Given the description of an element on the screen output the (x, y) to click on. 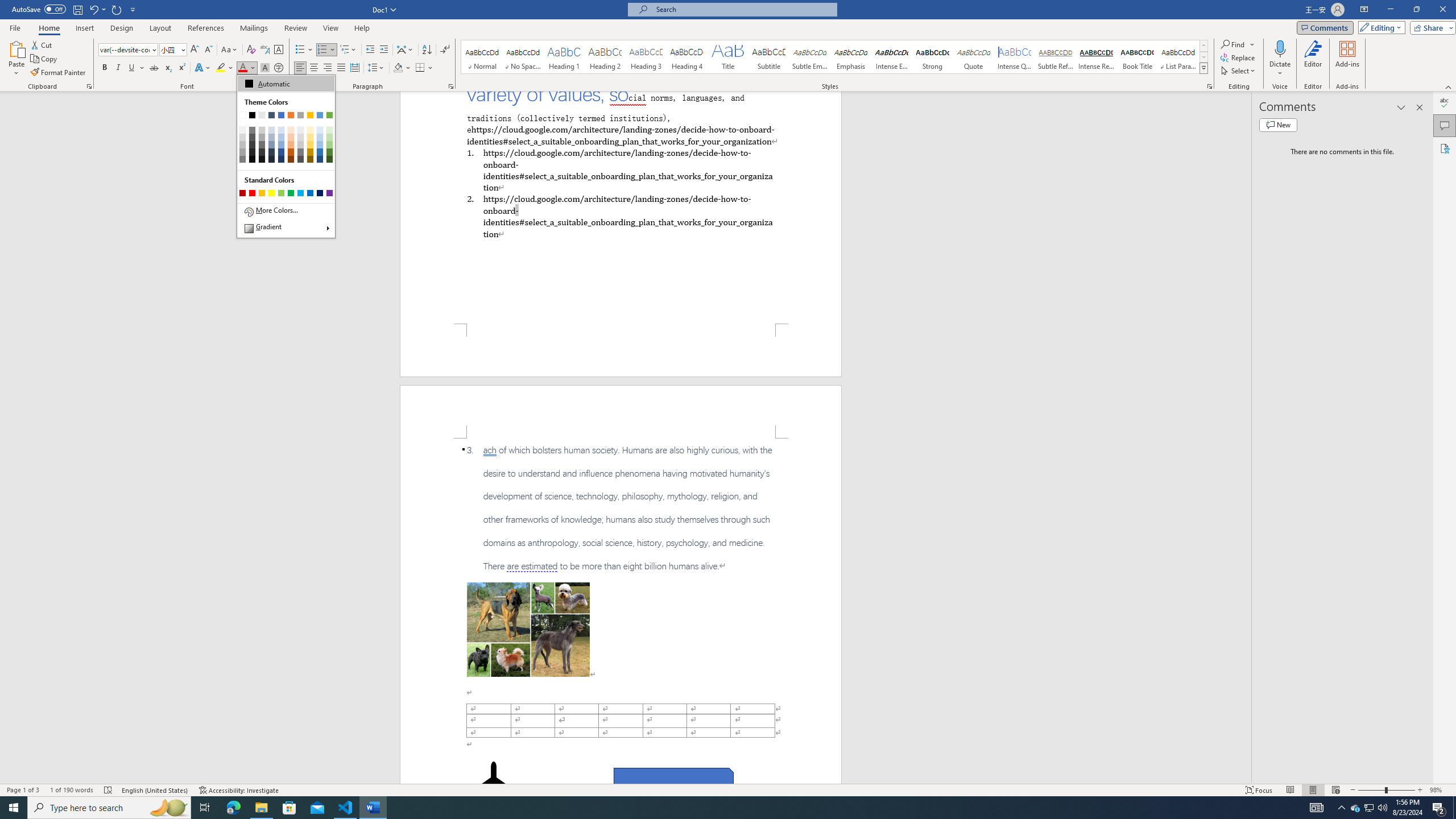
Heading 3 (646, 56)
New comment (1278, 124)
File Explorer - 1 running window (261, 807)
